Given the description of an element on the screen output the (x, y) to click on. 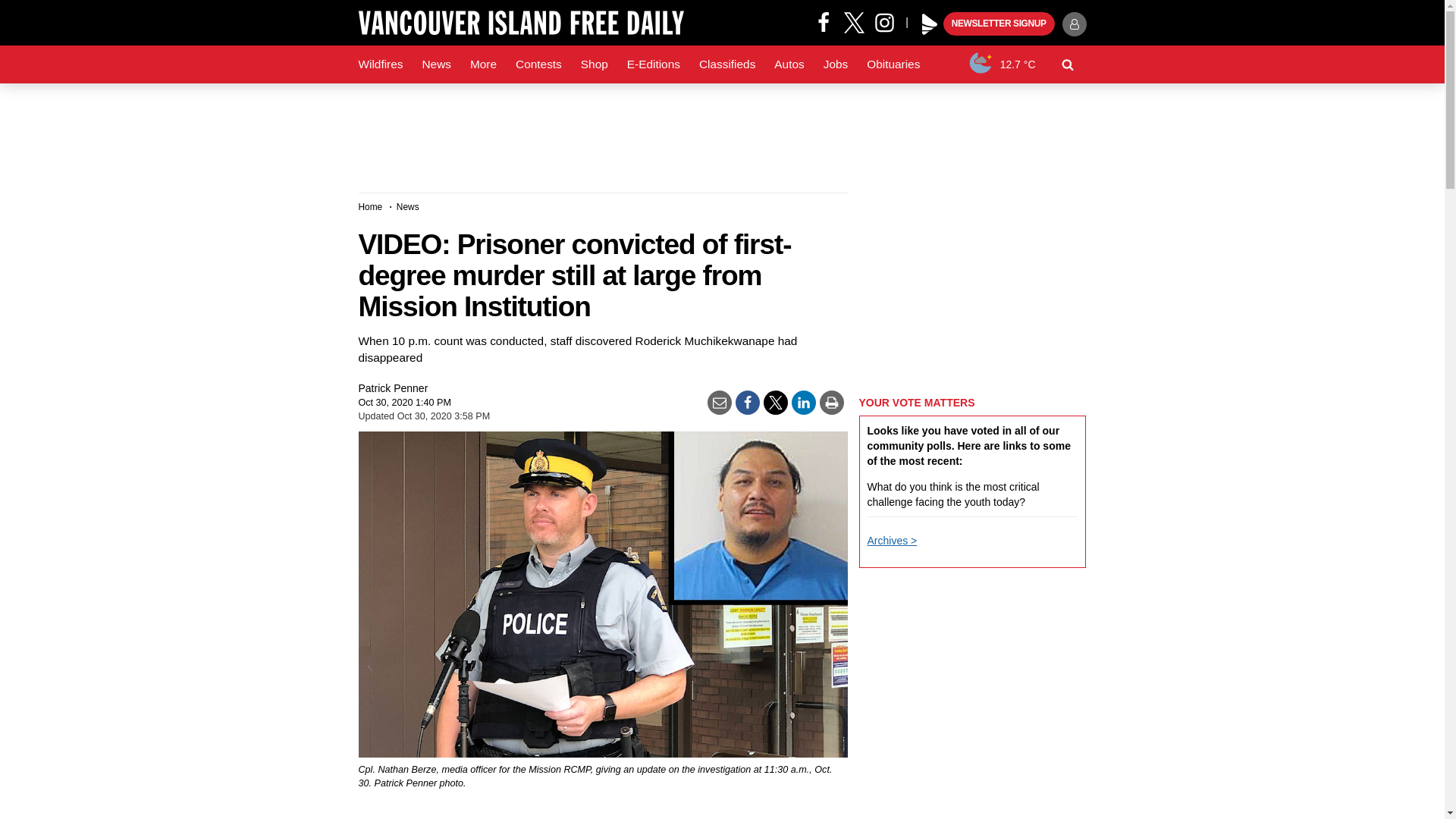
Instagram (889, 21)
X (853, 21)
Play (929, 24)
Wildfires (380, 64)
Facebook (823, 21)
NEWSLETTER SIGNUP (998, 24)
News (435, 64)
Black Press Media (929, 24)
